Given the description of an element on the screen output the (x, y) to click on. 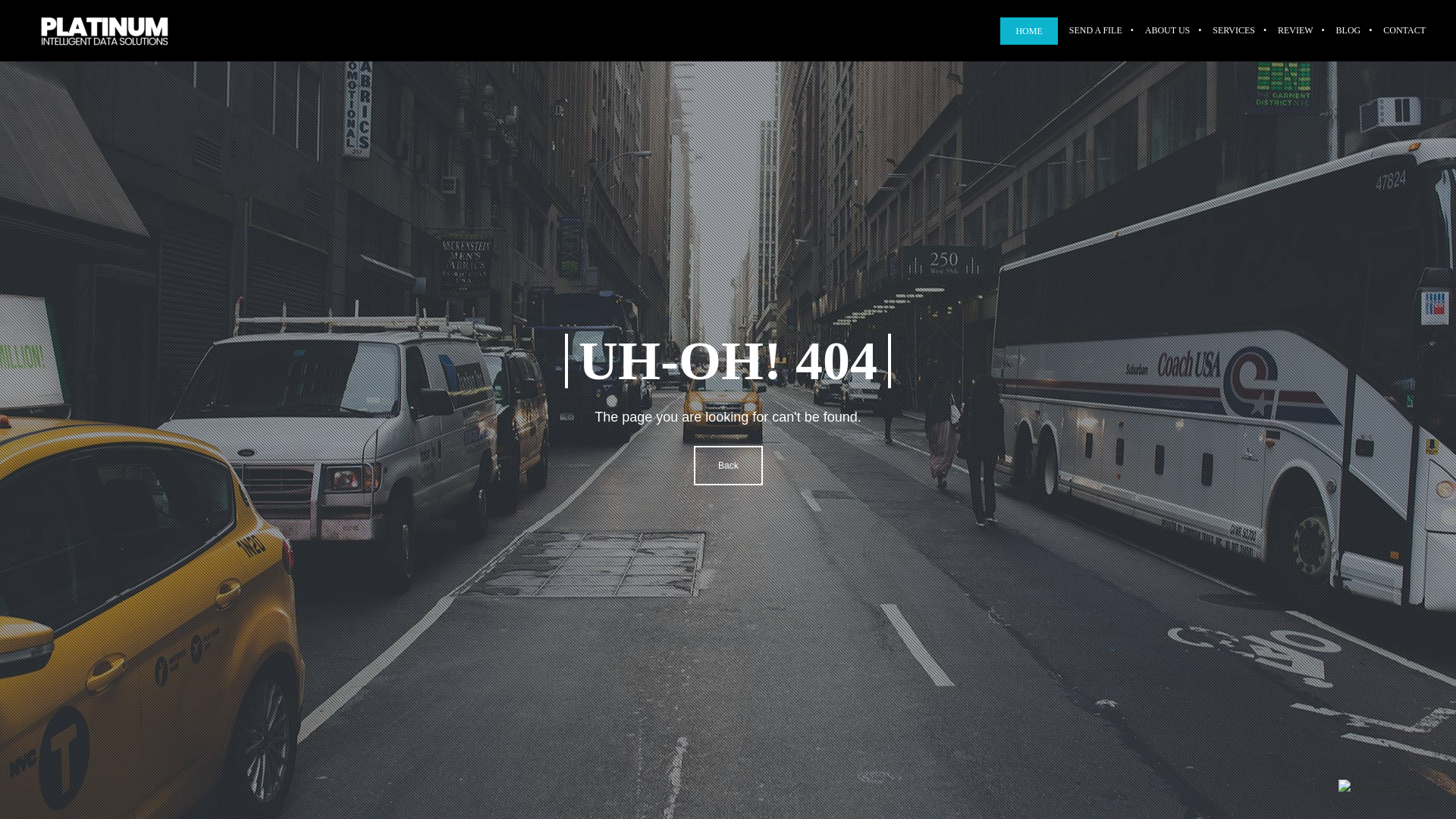
SERVICES (1233, 30)
REVIEW (1295, 30)
ABOUT US (1167, 30)
SEND A FILE (1096, 30)
HOME (1028, 31)
